Given the description of an element on the screen output the (x, y) to click on. 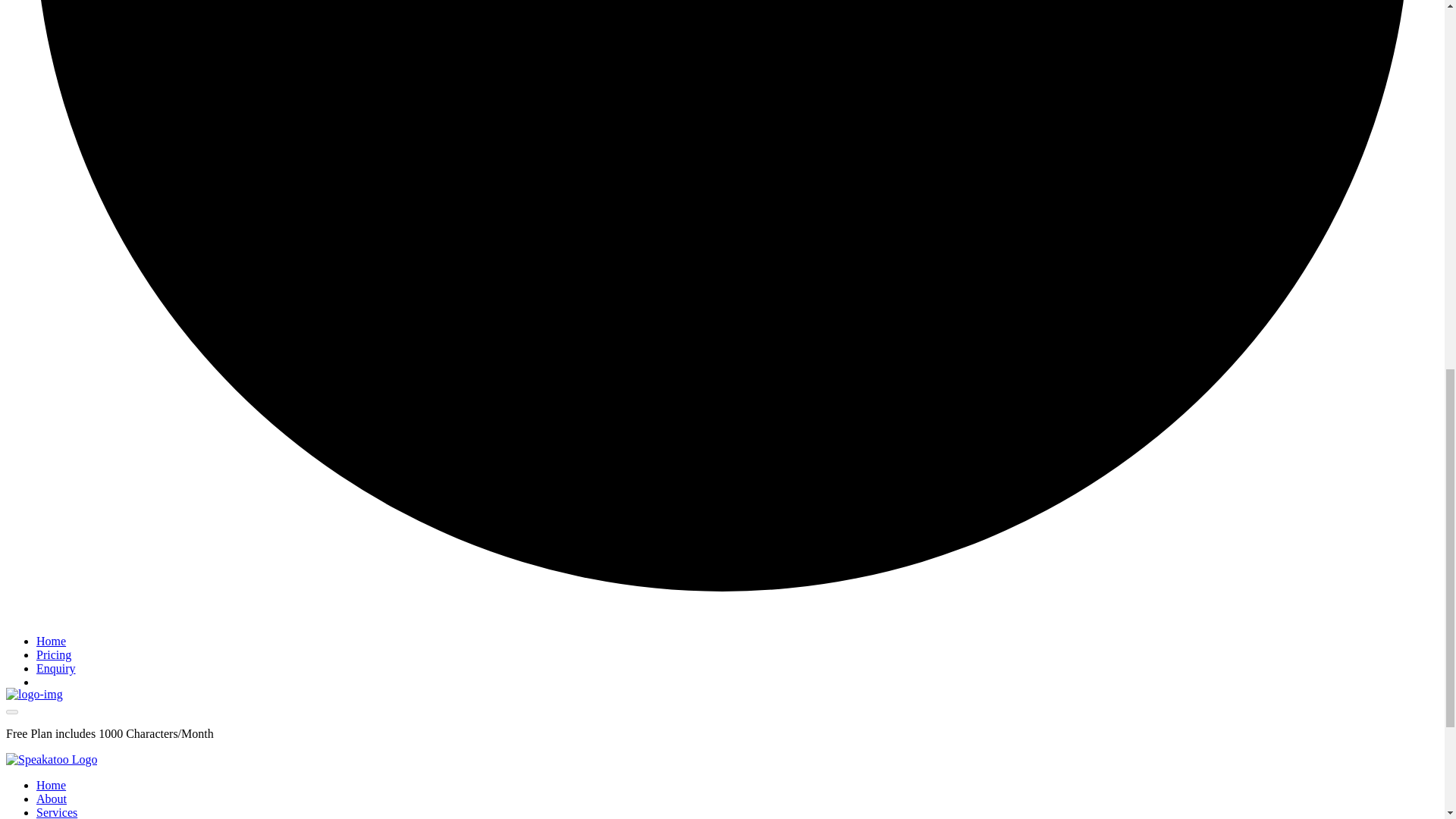
Services (56, 812)
About (51, 798)
Home (50, 784)
